Given the description of an element on the screen output the (x, y) to click on. 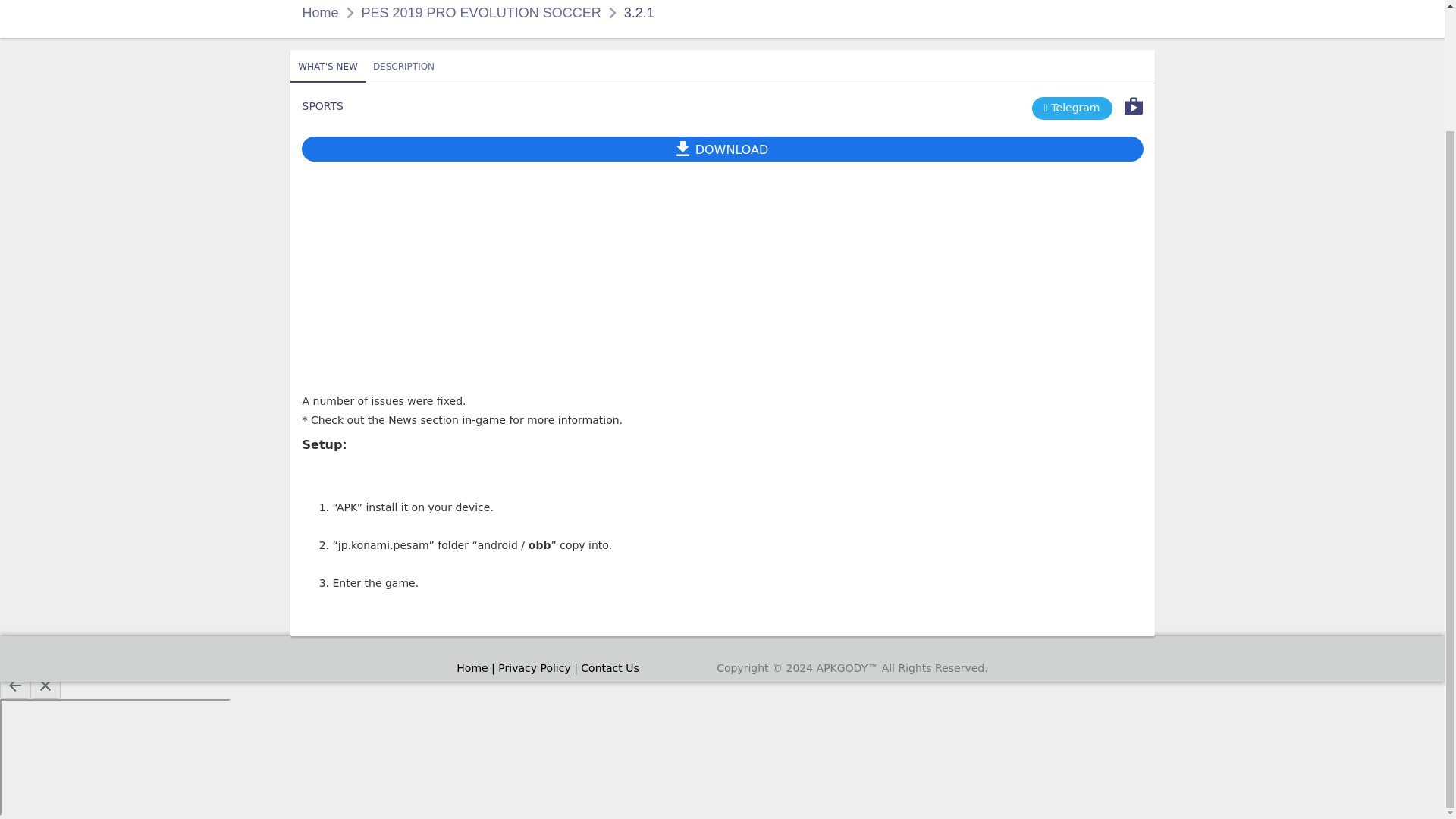
SPORTS (322, 105)
Home (319, 12)
Telegram (721, 73)
DESCRIPTION (1072, 108)
Advertisement (403, 65)
PES 2019 PRO EVOLUTION SOCCER (327, 66)
Contact Us (481, 12)
DOWNLOAD (609, 667)
